Given the description of an element on the screen output the (x, y) to click on. 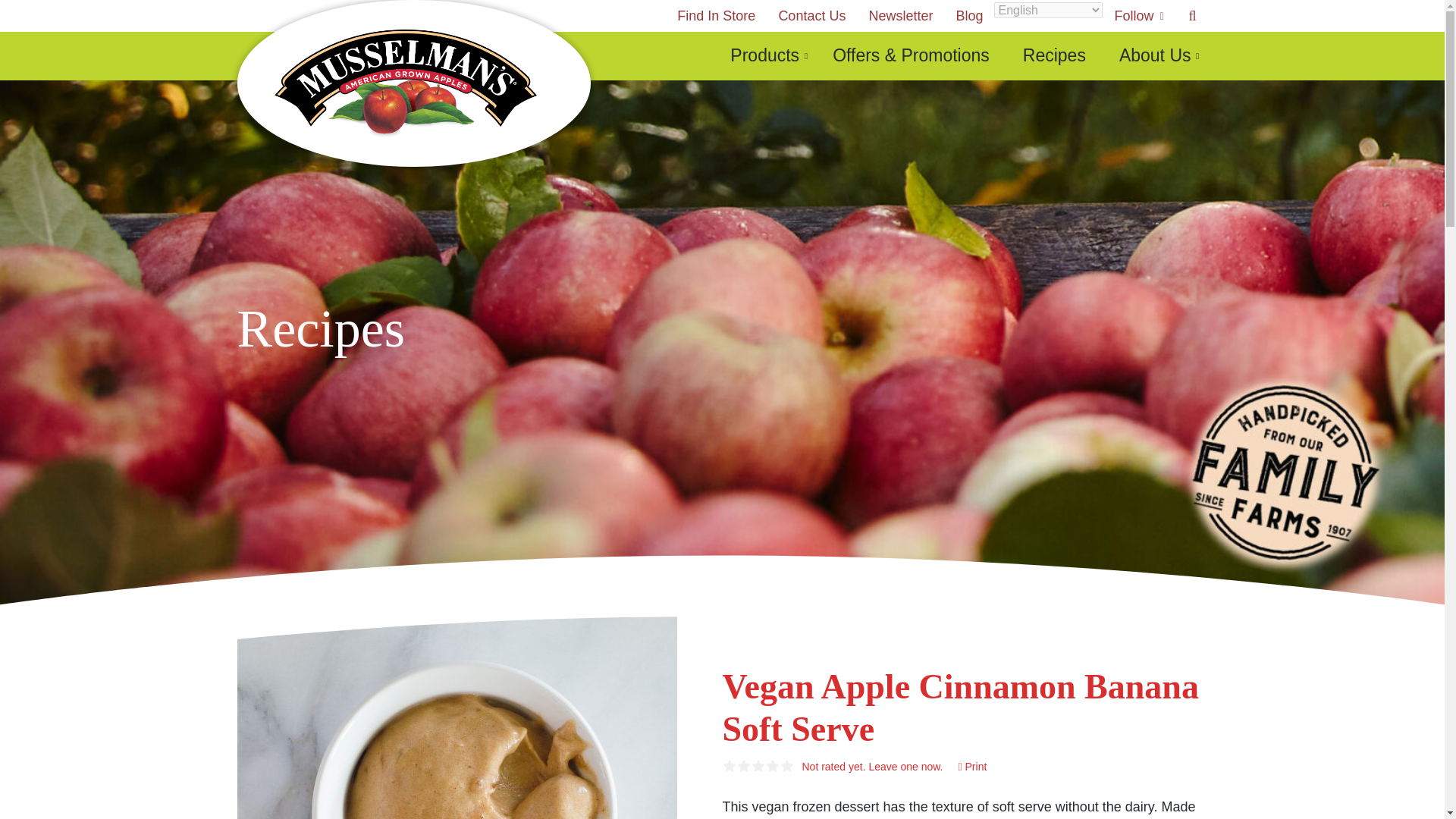
Products (764, 55)
Newsletter (900, 15)
Blog (968, 15)
Not rated yet. Leave one now. (872, 766)
Print (972, 766)
Recipes (1054, 55)
Find In Store (716, 15)
Contact Us (812, 15)
About Us (1155, 55)
Follow (1137, 15)
